Given the description of an element on the screen output the (x, y) to click on. 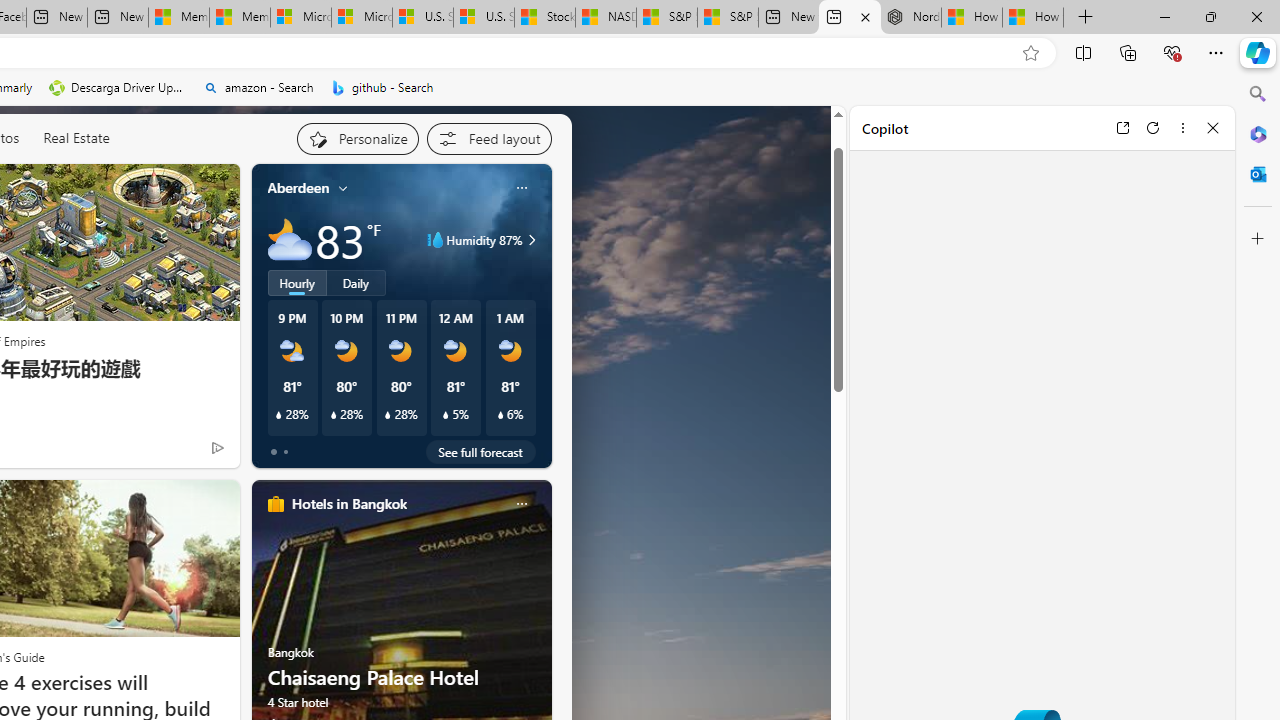
See full forecast (480, 451)
Class: weather-current-precipitation-glyph (500, 415)
Class: icon-img (521, 503)
How to Use a Monitor With Your Closed Laptop (1033, 17)
Mostly cloudy (289, 240)
Aberdeen (298, 188)
